Given the description of an element on the screen output the (x, y) to click on. 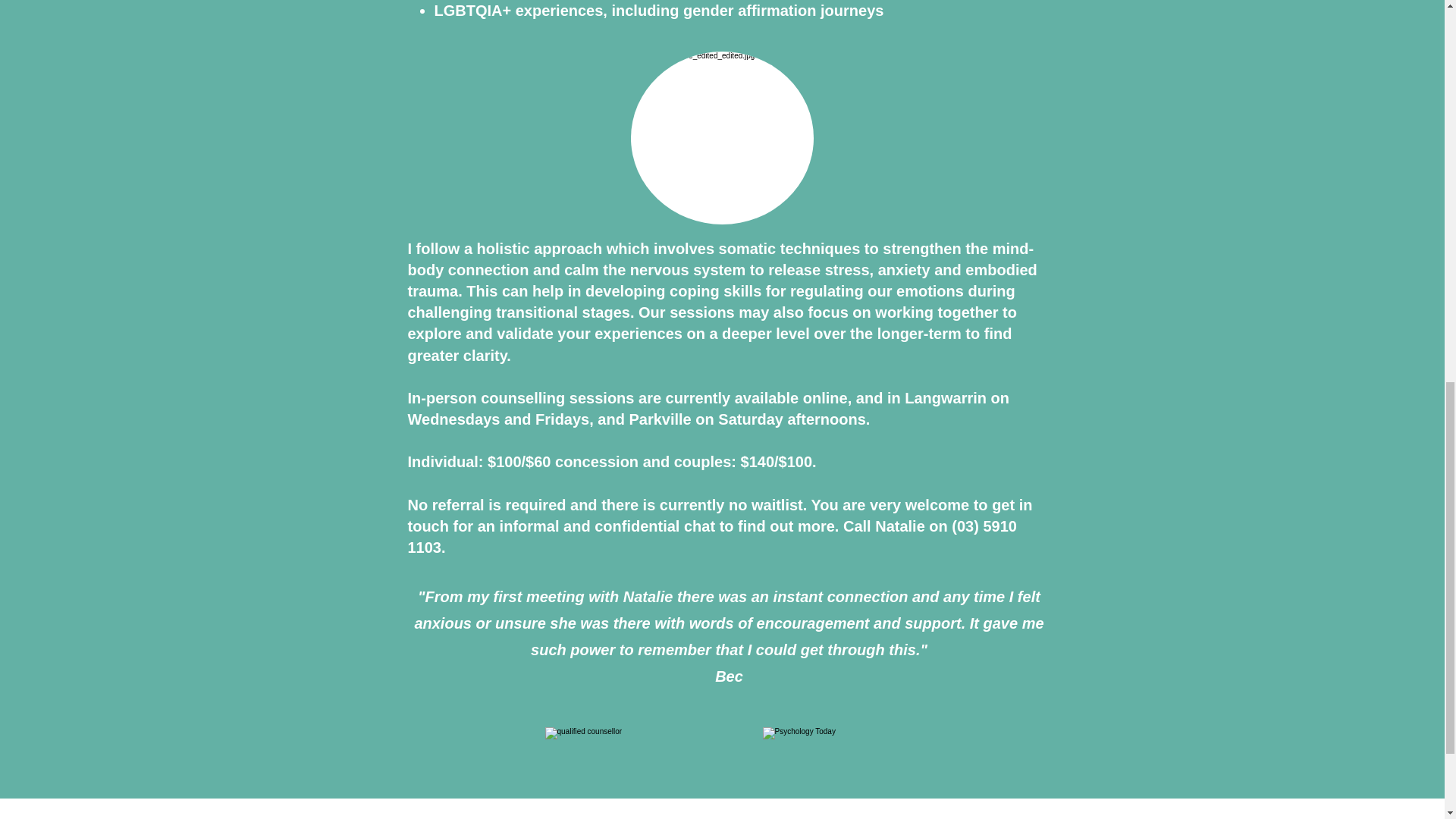
Qualified counsellor Langwarrin (832, 748)
Australian Counselling Association (619, 746)
Counselling Langwarrin (721, 137)
